Given the description of an element on the screen output the (x, y) to click on. 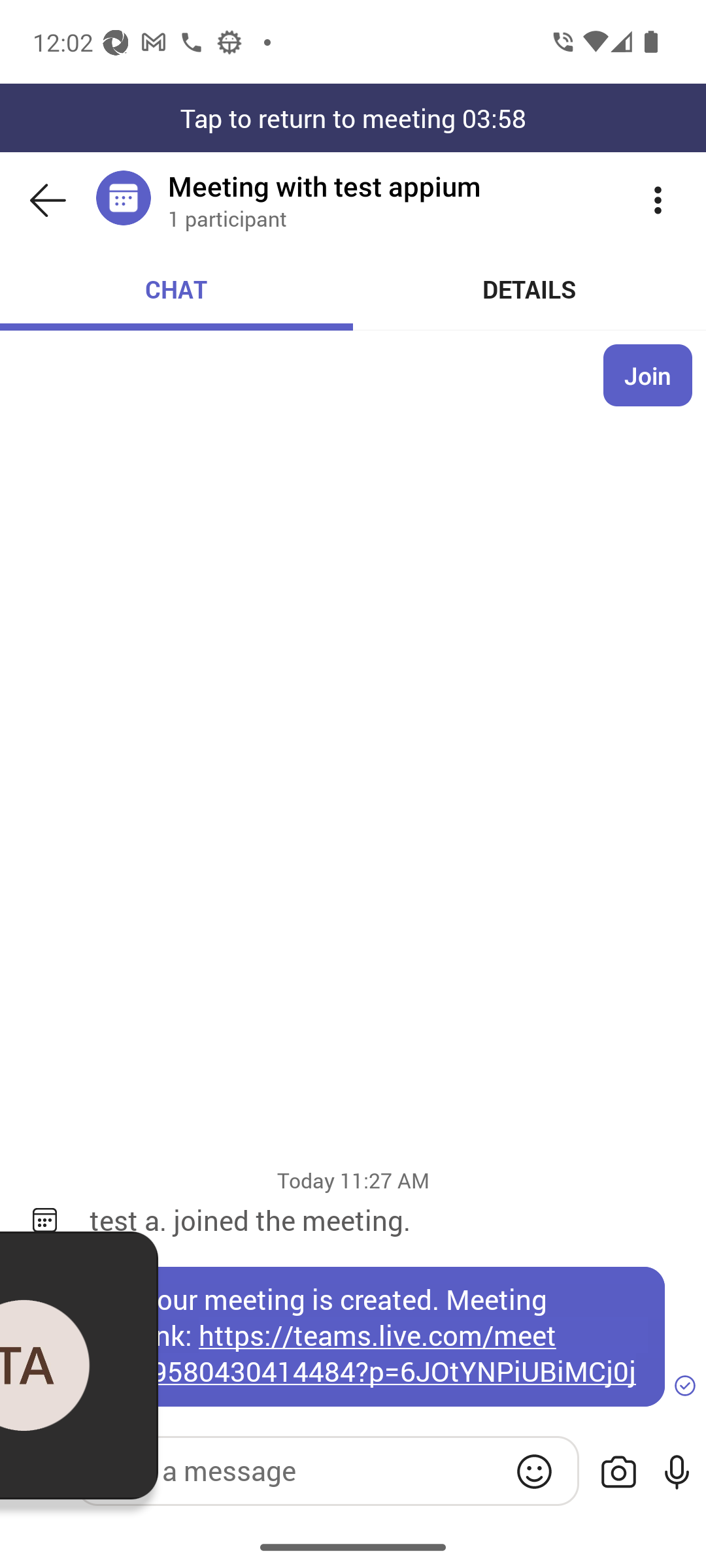
Tap to return to meeting 03:58 (353, 117)
Back (48, 199)
More options (657, 199)
Details DETAILS (529, 288)
Join (647, 375)
test a. joined the meeting. (383, 1219)
Button for loading camera action functionality (618, 1471)
GIFs and emojis picker (533, 1471)
